Given the description of an element on the screen output the (x, y) to click on. 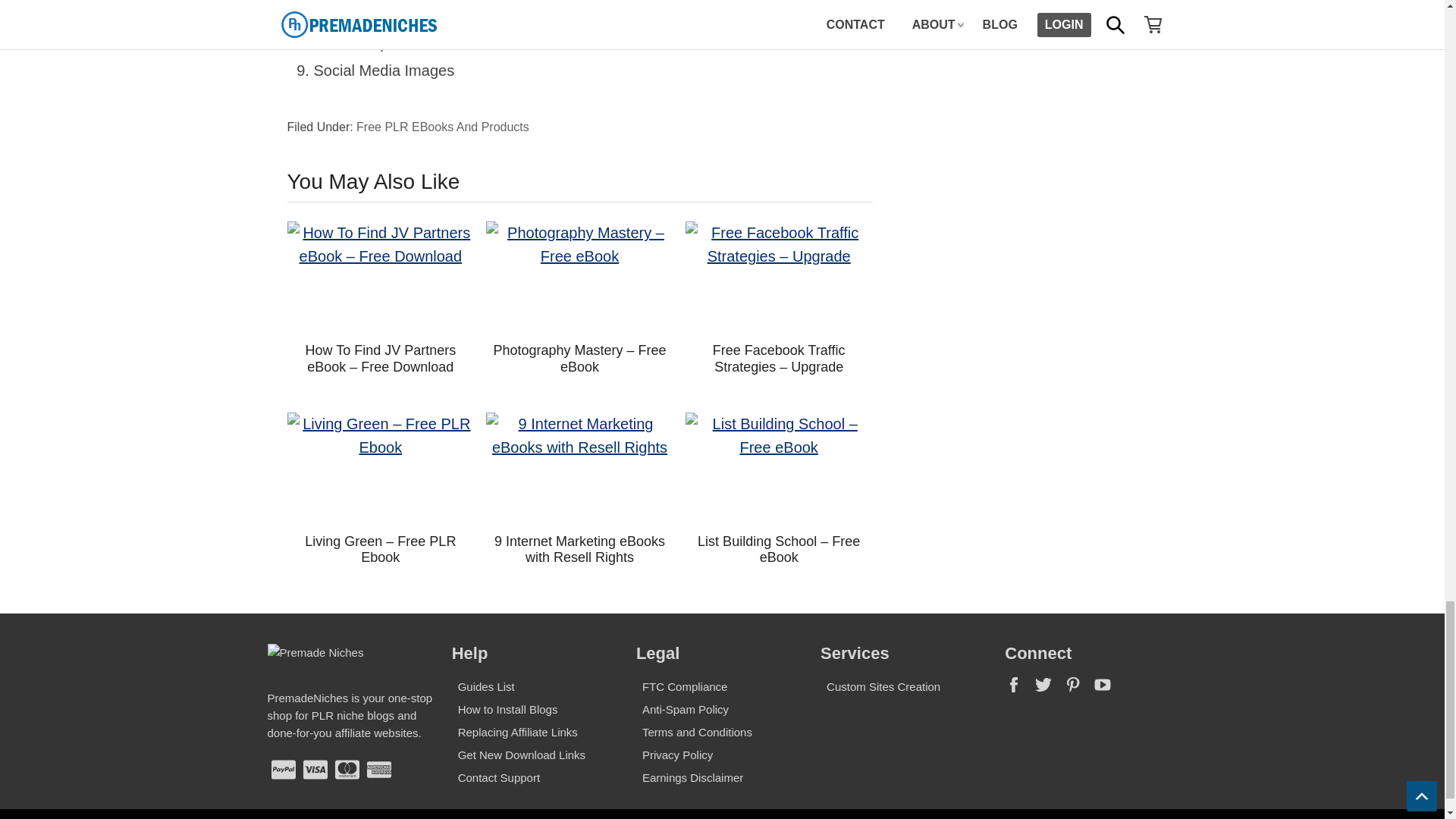
9 Internet Marketing eBooks with Resell Rights (579, 468)
Follow us on Twitter (1048, 689)
Follow us on Facebook (1018, 689)
Follow us on Pinterest (1078, 689)
